Given the description of an element on the screen output the (x, y) to click on. 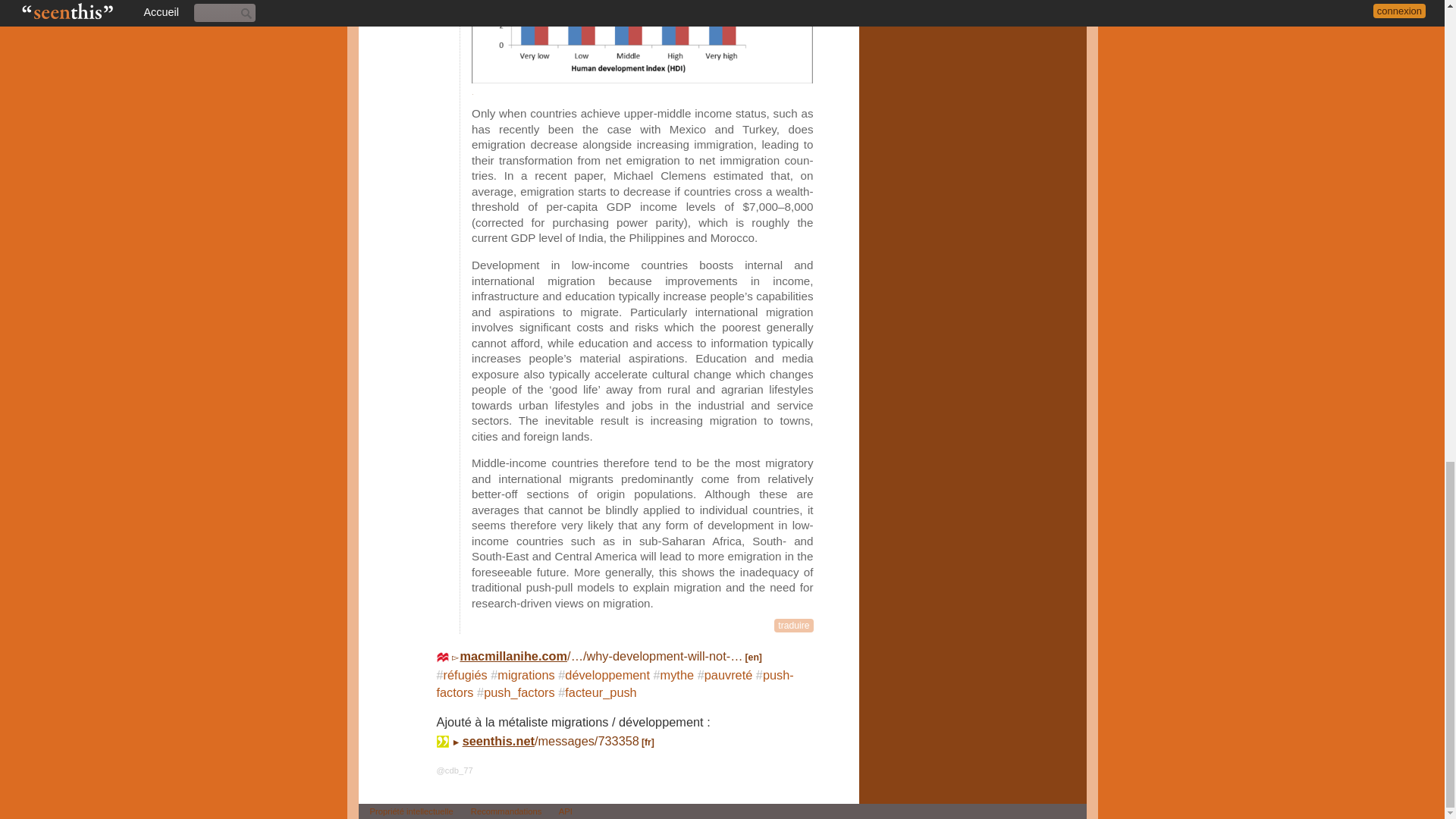
traduire (793, 625)
migrations (525, 674)
Why Development Will Not Stop Migration (610, 655)
push-factors (614, 683)
mythe (677, 674)
